Given the description of an element on the screen output the (x, y) to click on. 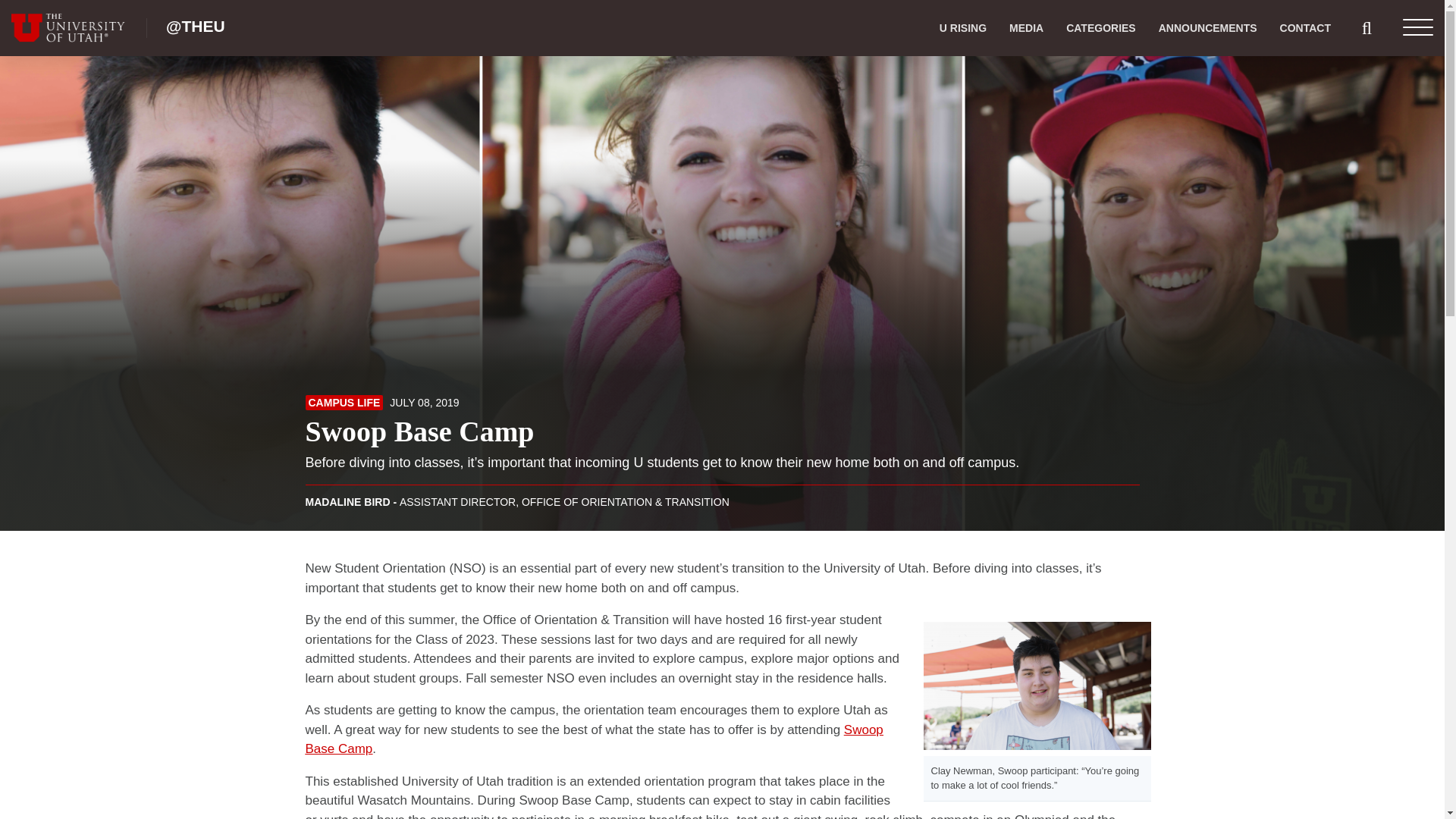
CATEGORIES (1100, 28)
MEDIA (1025, 28)
U RISING (962, 28)
